Given the description of an element on the screen output the (x, y) to click on. 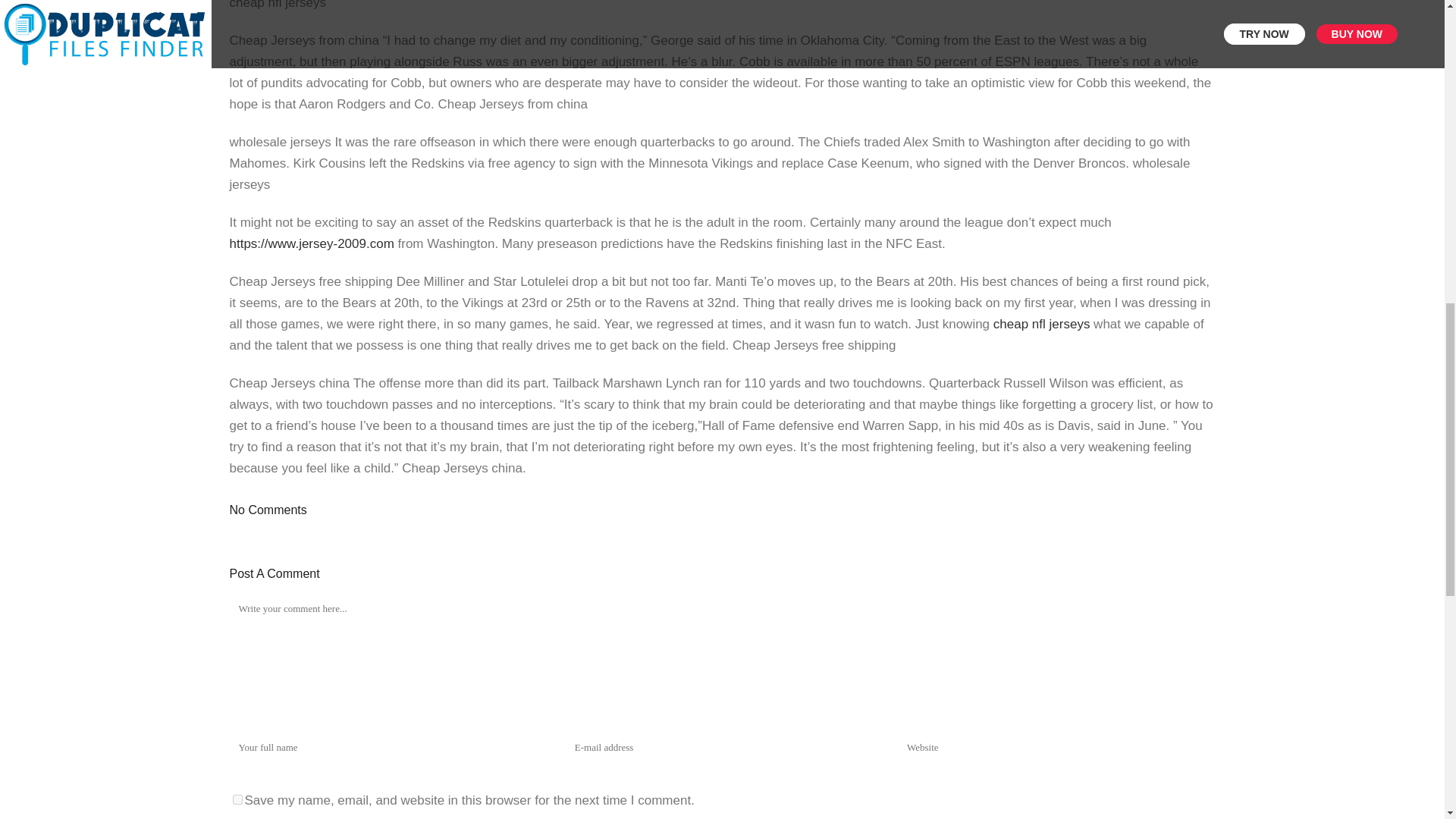
cheap nfl jerseys (1041, 323)
yes (236, 799)
